Given the description of an element on the screen output the (x, y) to click on. 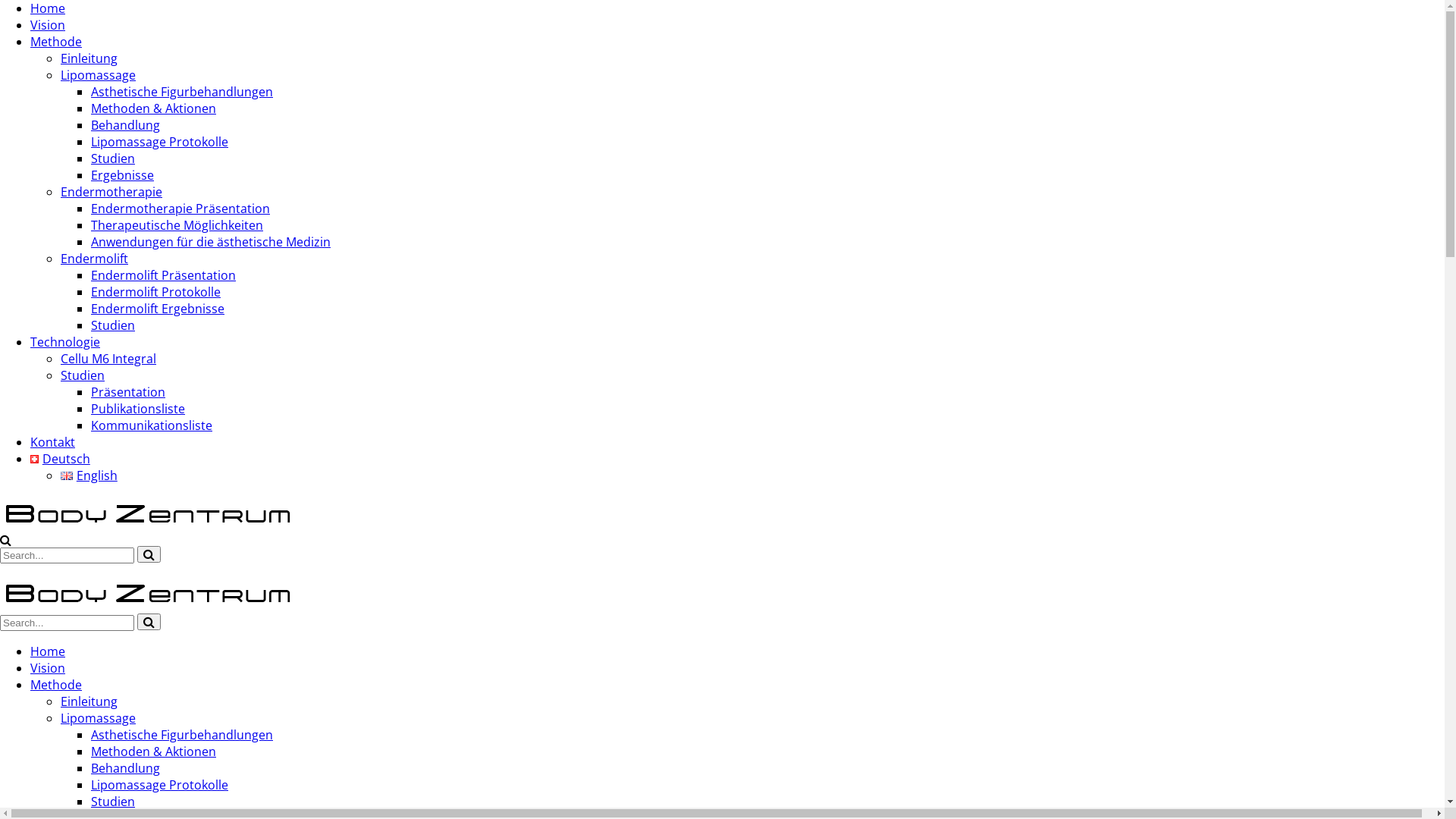
Deutsch Element type: text (60, 458)
Asthetische Figurbehandlungen Element type: text (182, 91)
Technologie Element type: text (65, 341)
Asthetische Figurbehandlungen Element type: text (182, 734)
Behandlung Element type: text (125, 767)
Lipomassage Element type: text (97, 717)
Kontakt Element type: text (52, 441)
Lipomassage Element type: text (97, 74)
Lipomassage Protokolle Element type: text (159, 784)
Home Element type: text (47, 651)
Methoden & Aktionen Element type: text (153, 108)
Einleitung Element type: text (88, 701)
Vision Element type: text (47, 24)
English Element type: text (88, 475)
Behandlung Element type: text (125, 124)
Endermotherapie Element type: text (111, 191)
Methode Element type: text (55, 41)
Studien Element type: text (112, 158)
Cellu M6 Integral Element type: text (108, 358)
Einleitung Element type: text (88, 58)
Publikationsliste Element type: text (138, 408)
Methode Element type: text (55, 684)
Kommunikationsliste Element type: text (151, 425)
Studien Element type: text (112, 324)
Deutsch Element type: hover (34, 459)
Studien Element type: text (82, 375)
Endermolift Protokolle Element type: text (155, 291)
Endermolift Element type: text (94, 258)
Studien Element type: text (112, 801)
Ergebnisse Element type: text (122, 174)
Vision Element type: text (47, 667)
English Element type: hover (66, 475)
Endermolift Ergebnisse Element type: text (157, 308)
Home Element type: text (47, 8)
Methoden & Aktionen Element type: text (153, 751)
Lipomassage Protokolle Element type: text (159, 141)
